Given the description of an element on the screen output the (x, y) to click on. 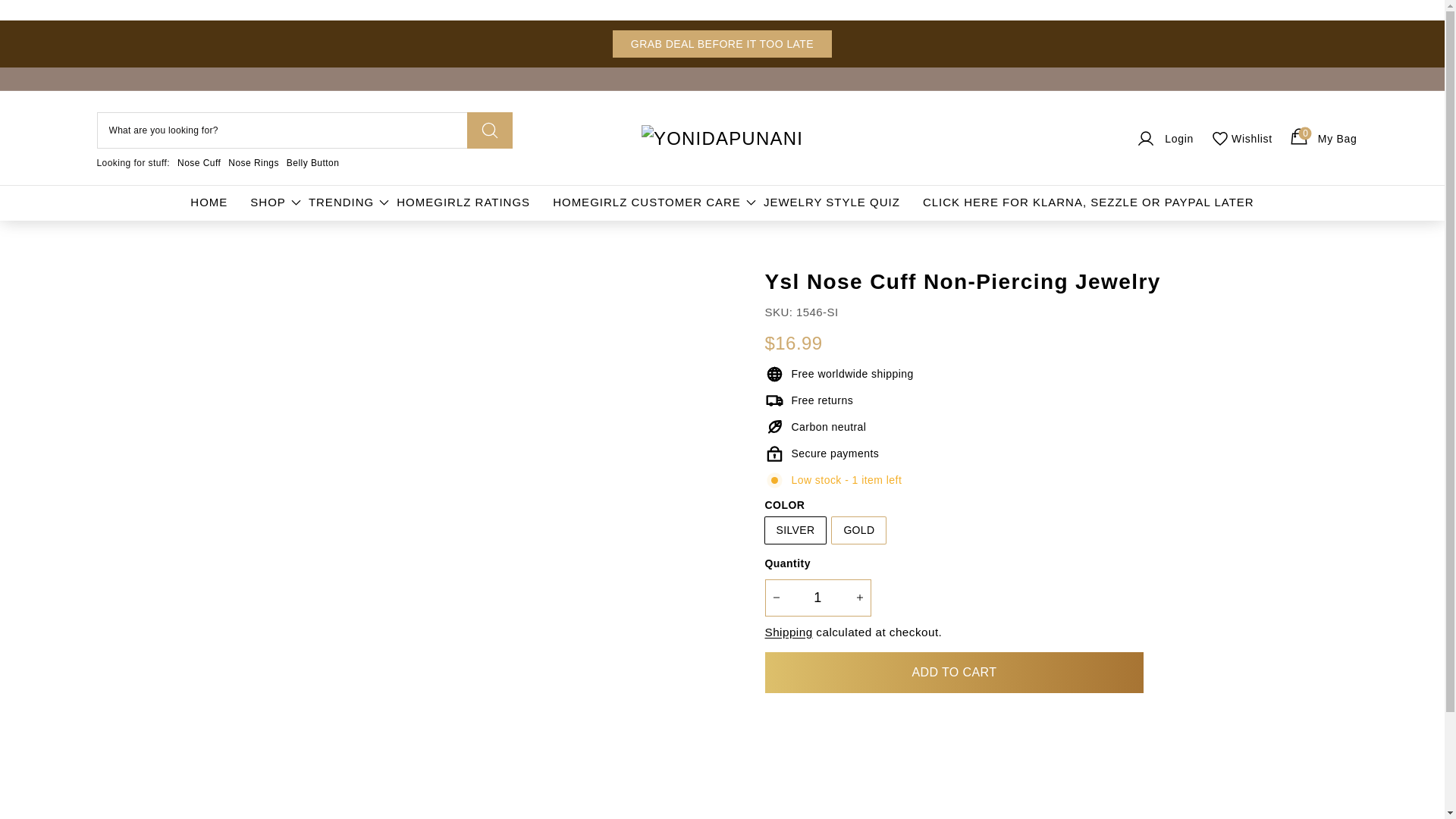
HOME (208, 202)
1 (817, 597)
Nose Rings (253, 163)
Login (1163, 138)
GRAB DEAL BEFORE IT TOO LATE (1321, 138)
SHOP (721, 43)
Wishlist (267, 202)
Belly Button (1240, 138)
Nose Cuff (312, 163)
Skip to content (199, 163)
